Given the description of an element on the screen output the (x, y) to click on. 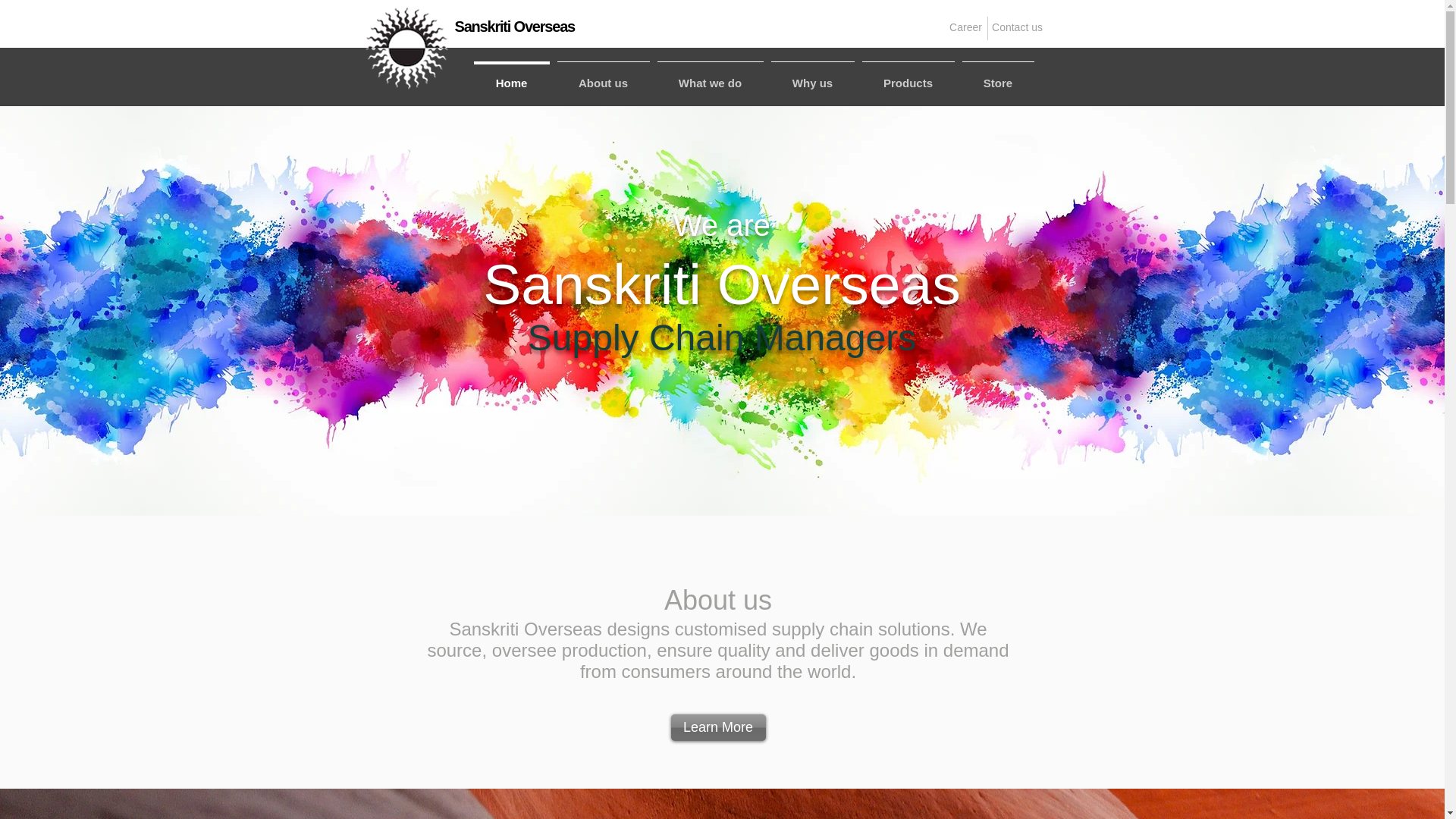
Contact us (1016, 27)
What we do (710, 76)
Home (511, 76)
Learn More (717, 727)
Store (998, 76)
Products (908, 76)
About us (603, 76)
Logo (407, 49)
Career (965, 27)
Why us (813, 76)
